Given the description of an element on the screen output the (x, y) to click on. 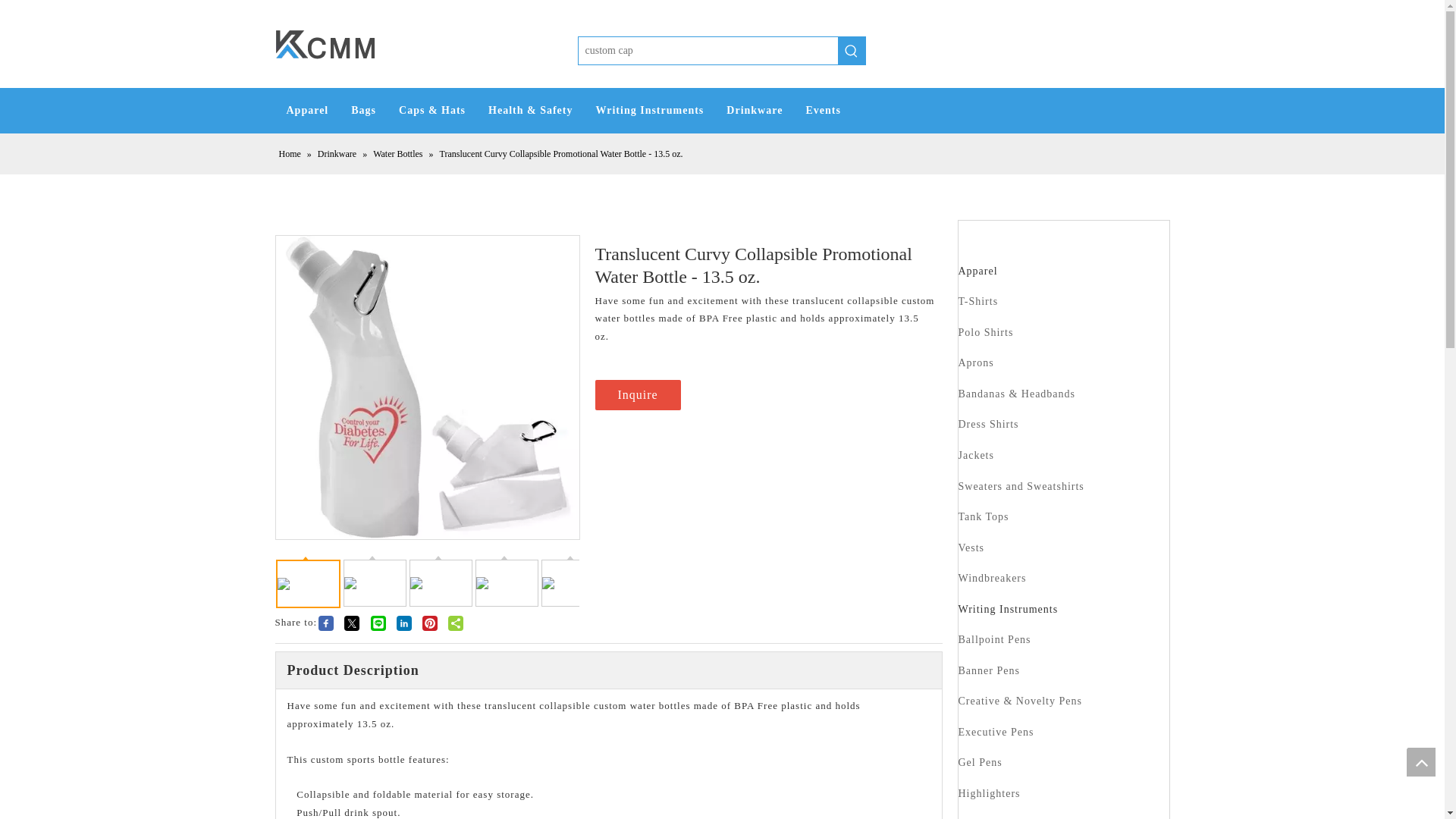
kcmm (325, 43)
Writing Instruments (648, 110)
Sweaters and Sweatshirts (1021, 486)
Jackets (976, 455)
Bags (363, 110)
Vests (971, 547)
Executive Pens (995, 731)
Ballpoint Pens (994, 639)
Polo Shirts (985, 332)
Dress Shirts (988, 423)
Apparel (977, 270)
Gel Pens (980, 762)
Aprons (976, 362)
Writing Instruments (1008, 609)
Apparel (307, 110)
